Given the description of an element on the screen output the (x, y) to click on. 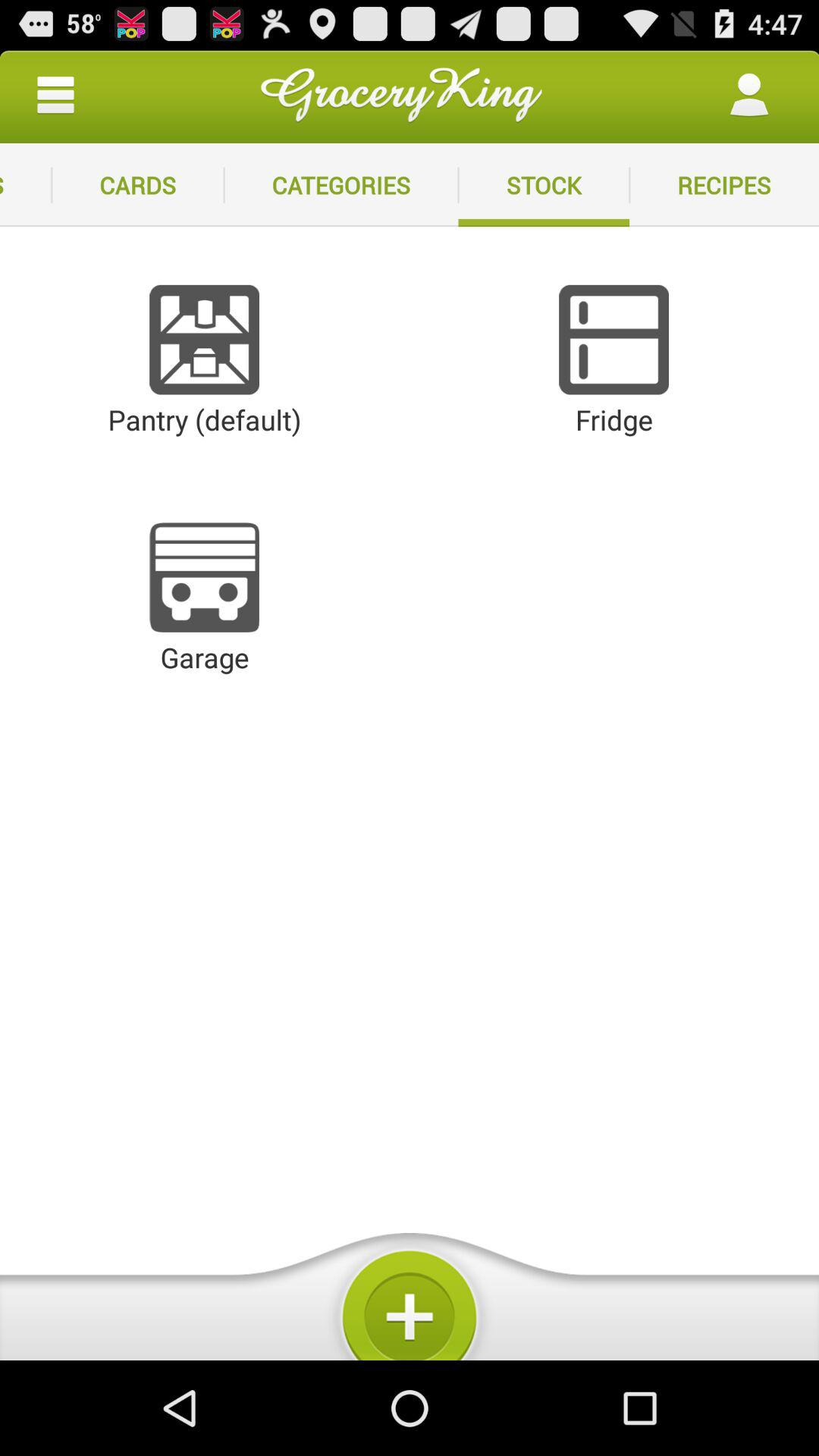
swipe until lists (25, 184)
